Given the description of an element on the screen output the (x, y) to click on. 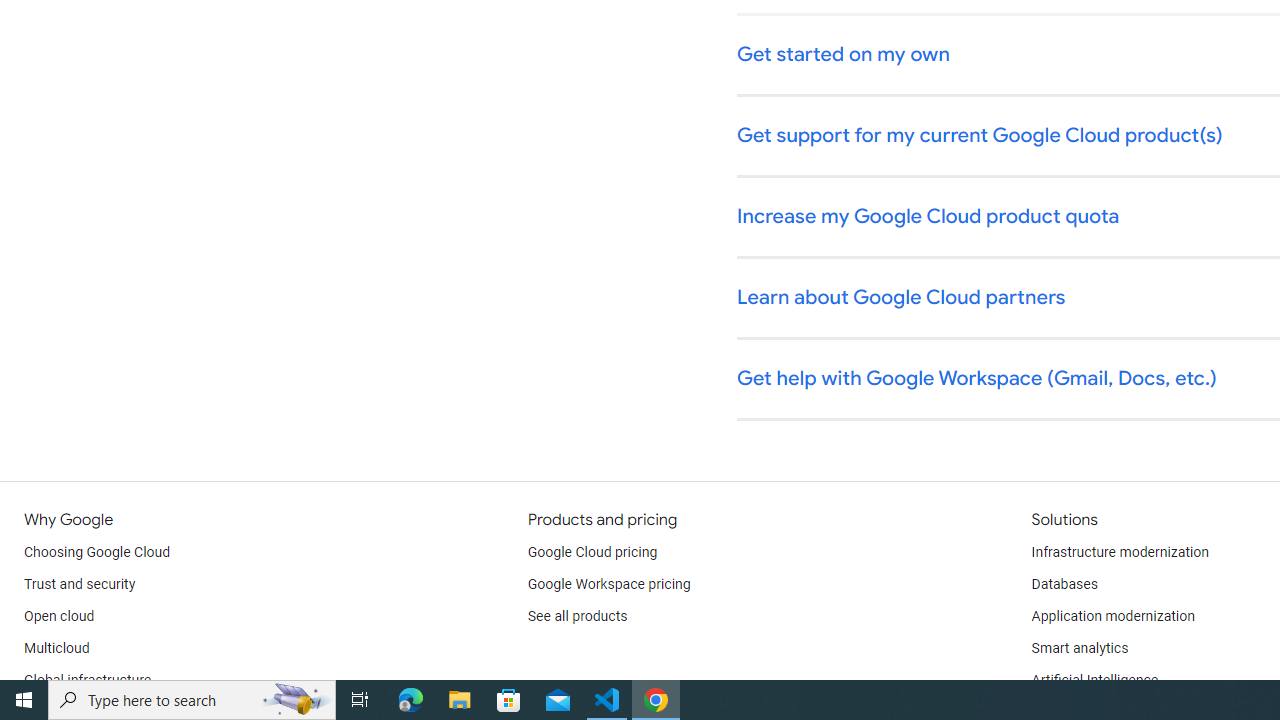
Open cloud (59, 616)
Multicloud (56, 648)
Google Cloud pricing (592, 552)
Smart analytics (1079, 648)
Artificial Intelligence (1094, 680)
Application modernization (1112, 616)
Databases (1064, 584)
Infrastructure modernization (1119, 552)
See all products (577, 616)
Trust and security (79, 584)
Global infrastructure (88, 680)
Google Workspace pricing (609, 584)
Choosing Google Cloud (97, 552)
